Given the description of an element on the screen output the (x, y) to click on. 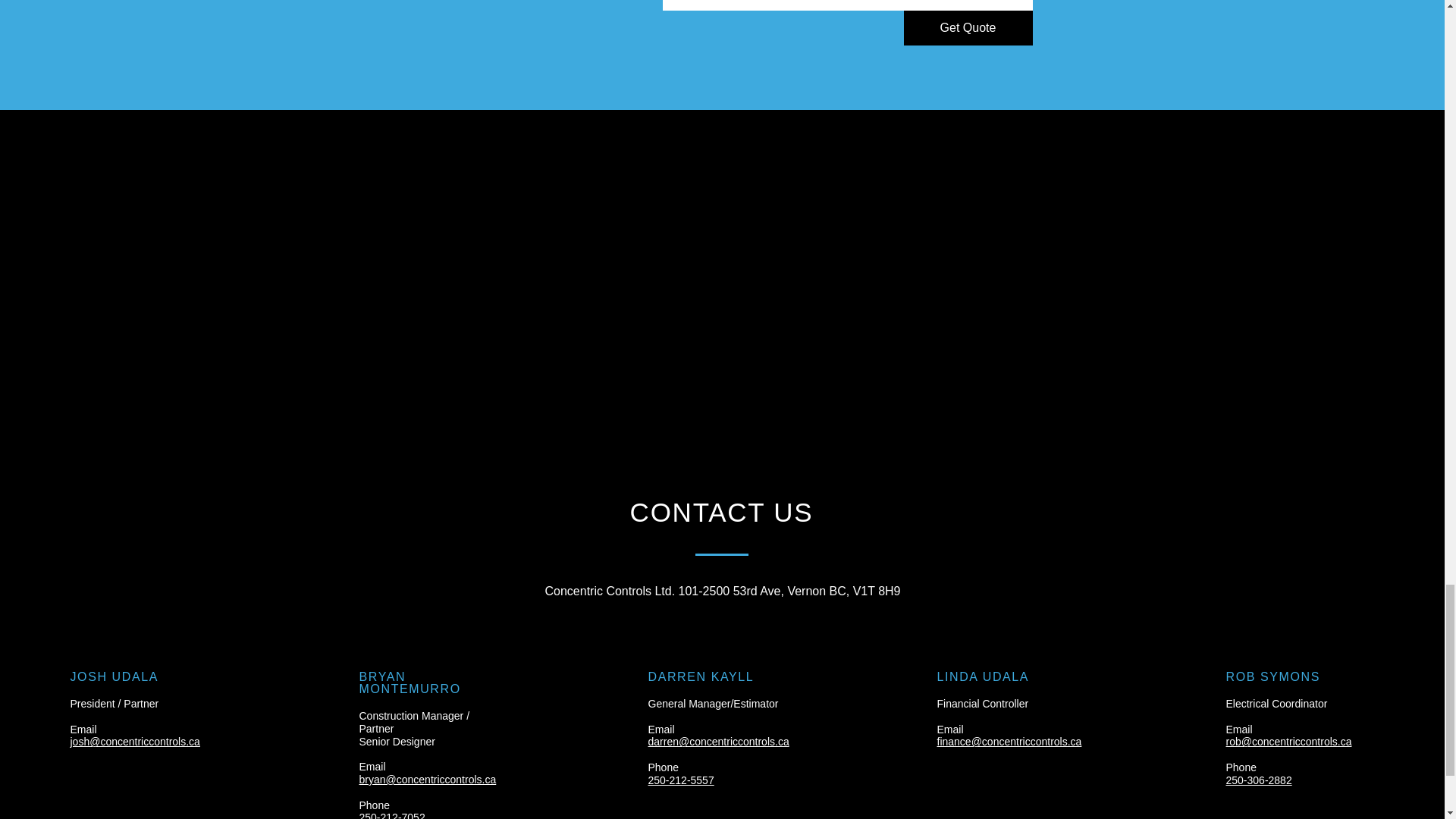
LINDA UDALA (983, 676)
250-212-7052 (392, 815)
JOSH (87, 676)
UDALA (132, 676)
250-212-5557 (680, 779)
ROB SYMONS (1272, 676)
DARREN (676, 676)
BRYAN MONTEMURRO (410, 682)
Get Quote (968, 27)
